Given the description of an element on the screen output the (x, y) to click on. 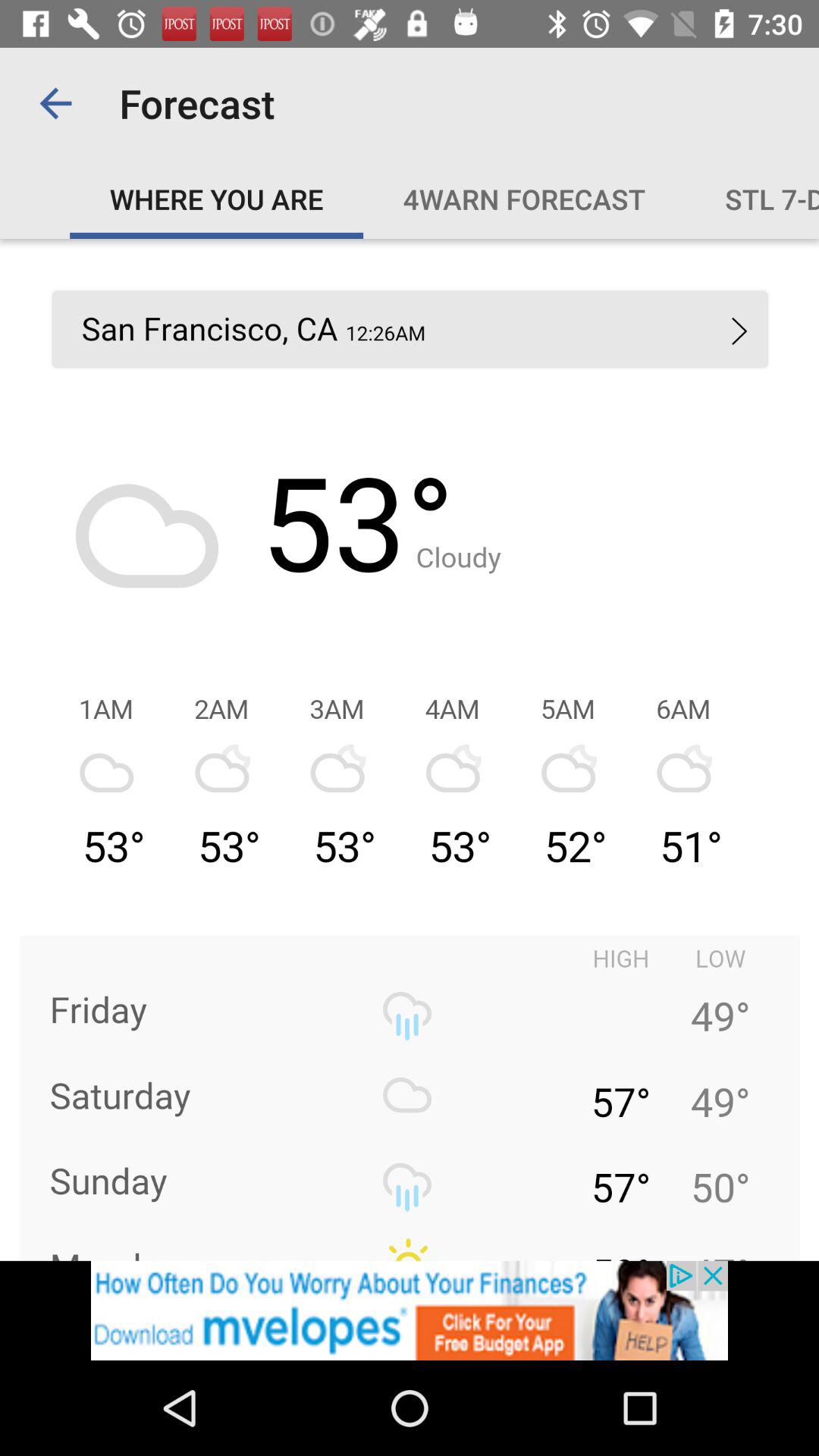
a page showing details about what you click (409, 749)
